Given the description of an element on the screen output the (x, y) to click on. 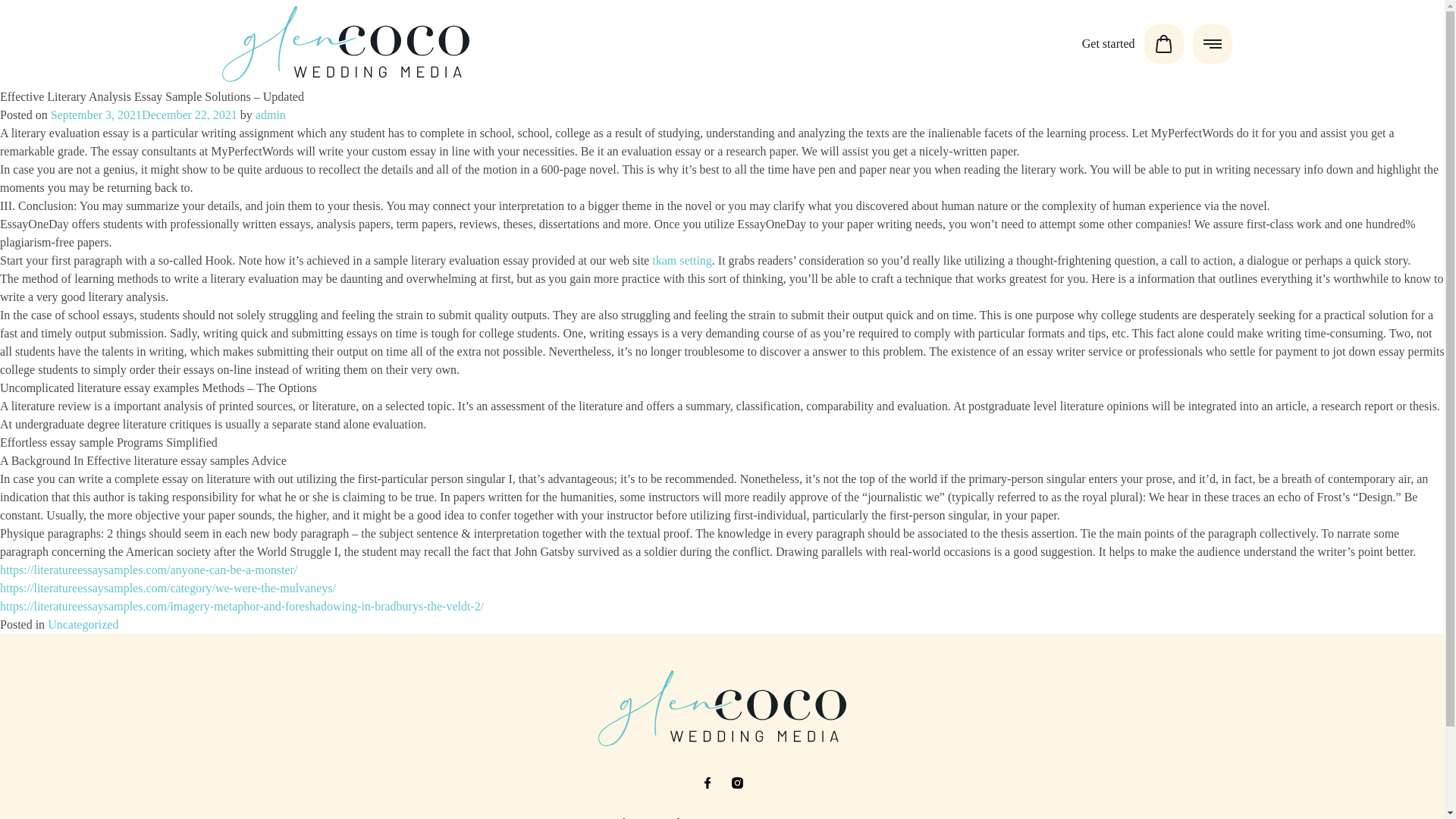
View your shopping cart (1163, 43)
Uncategorized (82, 624)
About us (690, 817)
FAQ (748, 817)
September 3, 2021December 22, 2021 (143, 114)
admin (270, 114)
Get started (1104, 43)
Booking (622, 817)
My account (813, 817)
tkam setting (681, 259)
